Given the description of an element on the screen output the (x, y) to click on. 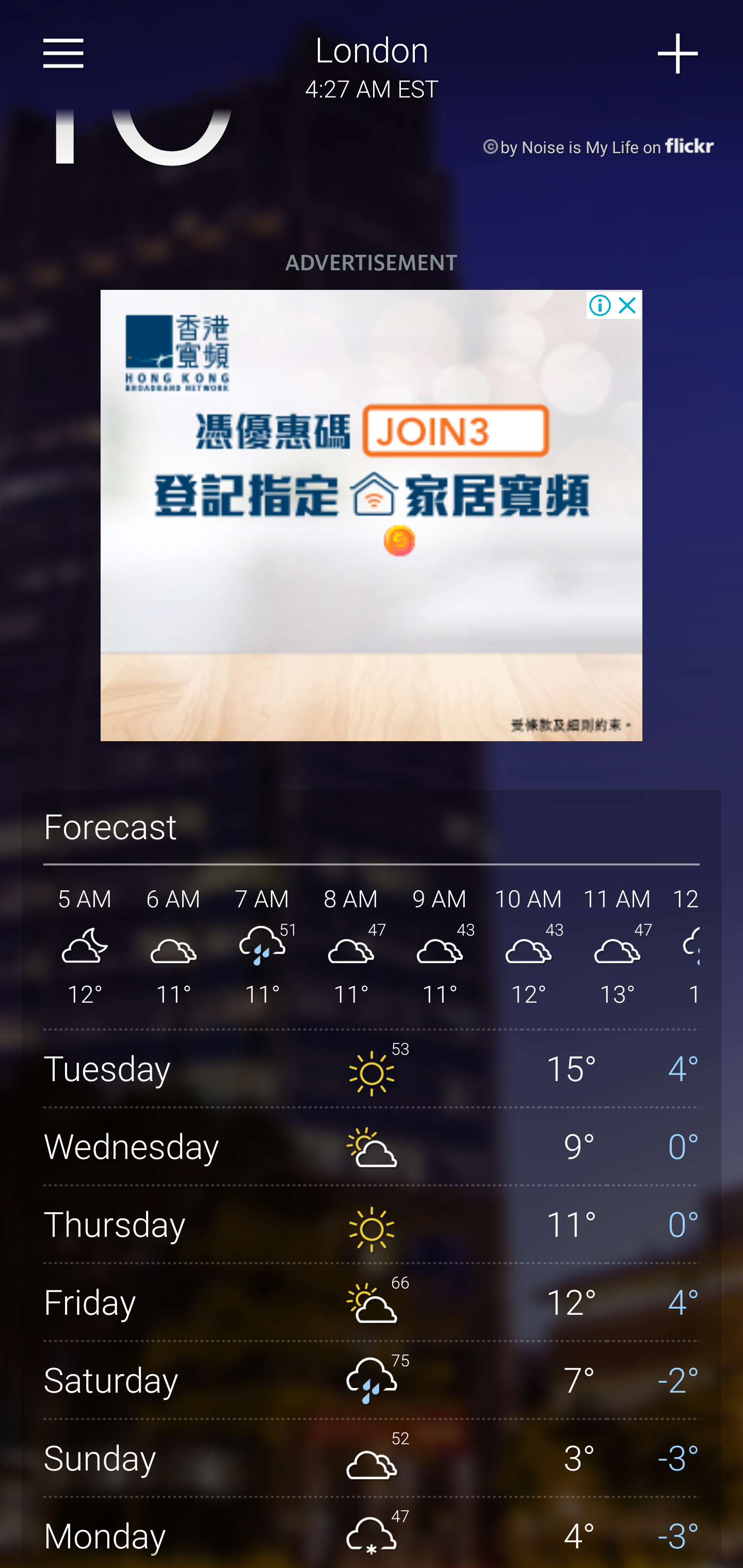
Sidebar (64, 54)
Add City (678, 53)
